Given the description of an element on the screen output the (x, y) to click on. 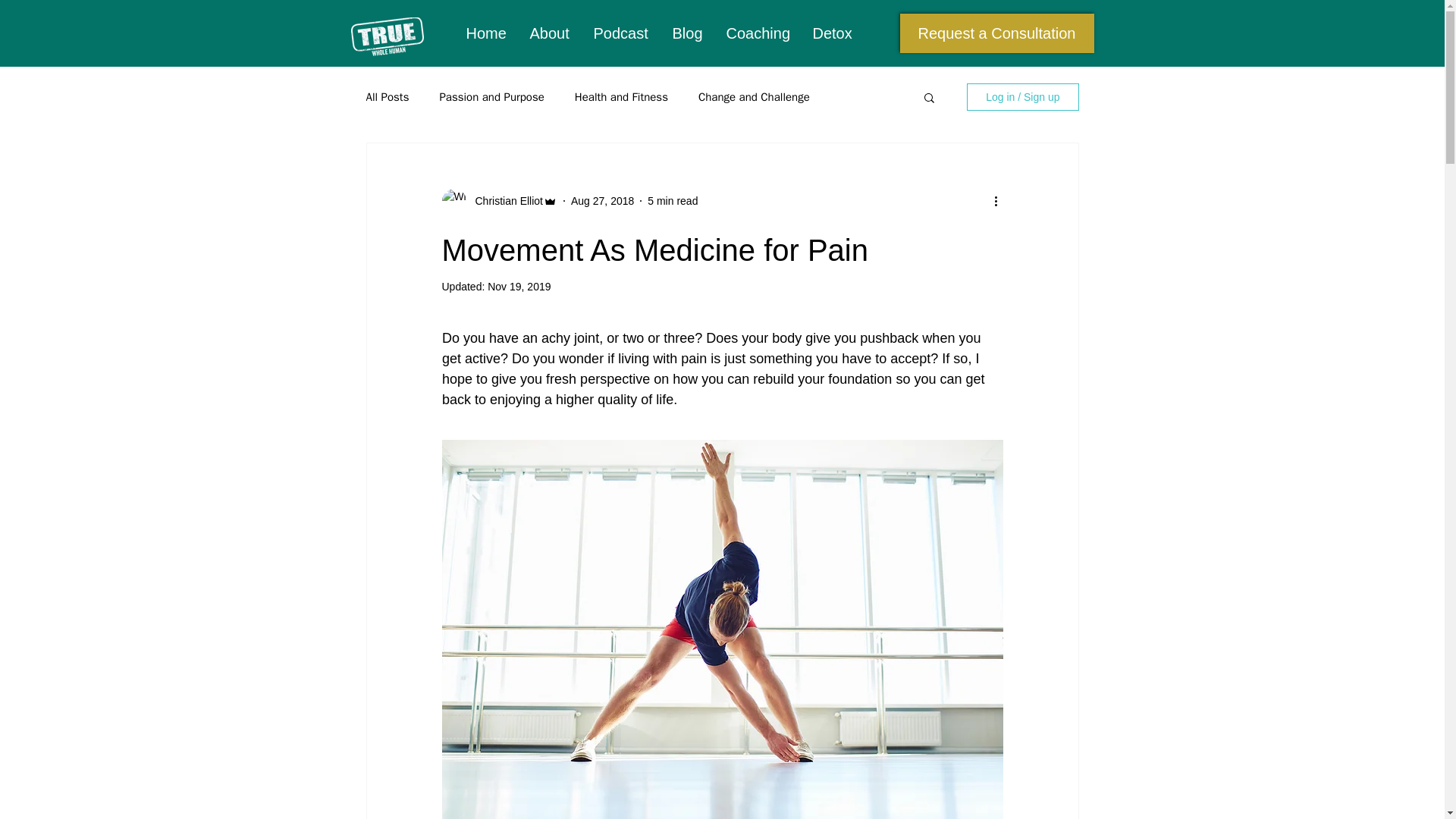
Change and Challenge (753, 96)
Aug 27, 2018 (601, 200)
Coaching (757, 33)
Health and Fitness (621, 96)
Blog (686, 33)
About (548, 33)
5 min read (672, 200)
All Posts (387, 96)
Home (486, 33)
Christian Elliot (503, 200)
Request a Consultation (996, 33)
Detox (831, 33)
Passion and Purpose (491, 96)
Podcast (619, 33)
Nov 19, 2019 (518, 286)
